Given the description of an element on the screen output the (x, y) to click on. 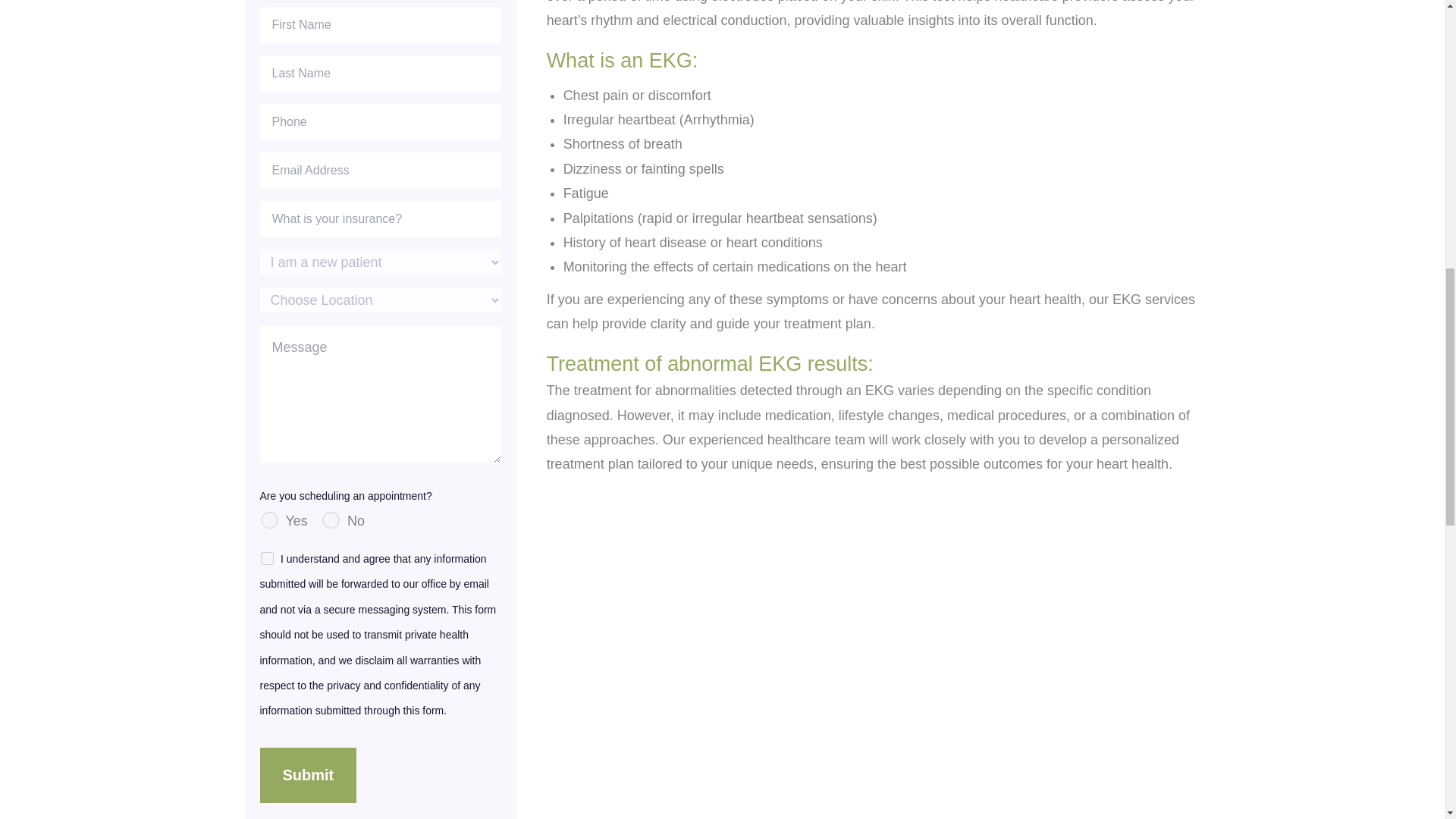
on (267, 558)
Yes (268, 519)
Submit (307, 775)
No (330, 519)
